Given the description of an element on the screen output the (x, y) to click on. 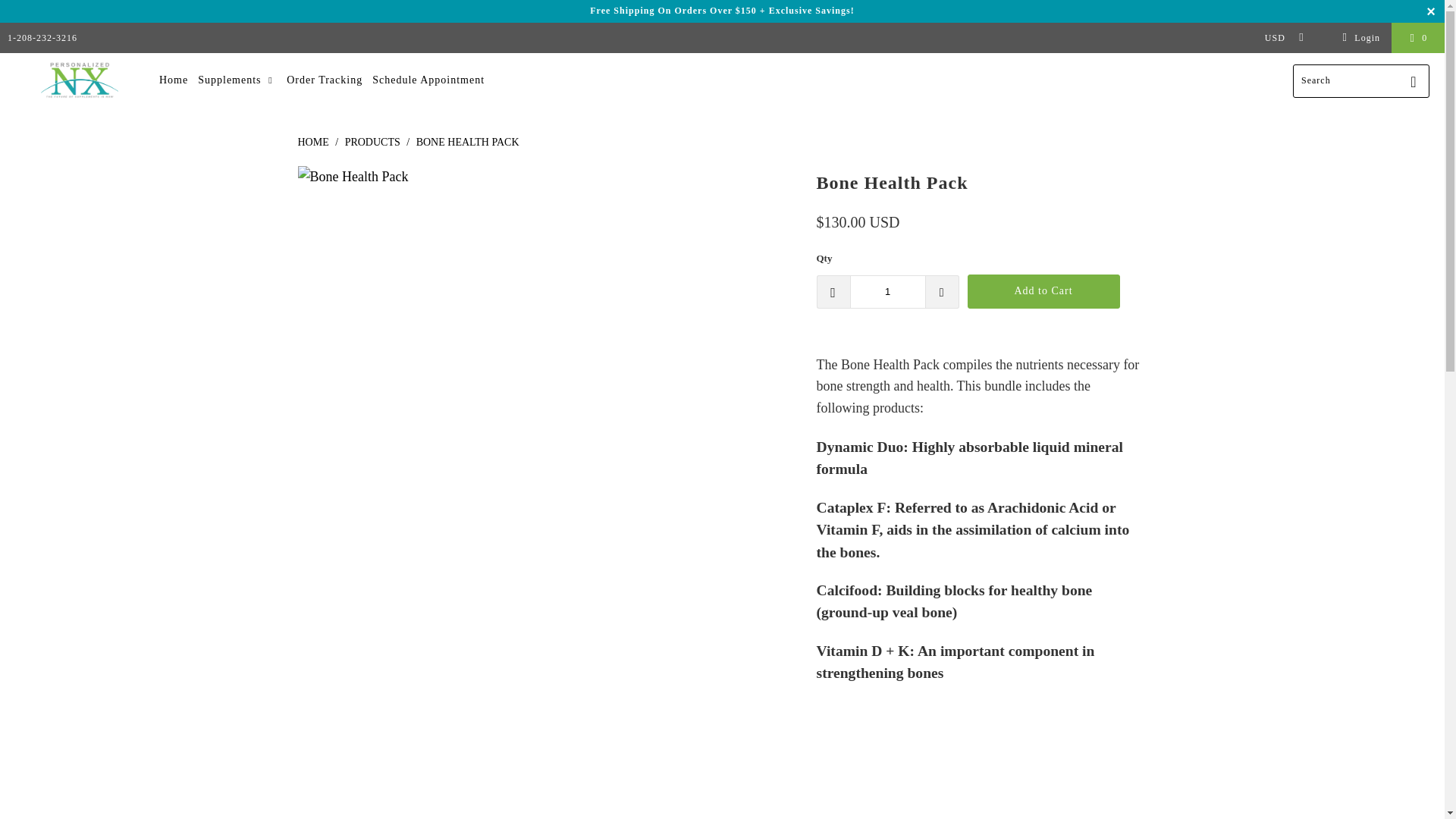
1 (886, 291)
Products (372, 142)
Personalized NX (79, 80)
My Account  (1359, 38)
Personalized NX (313, 142)
